Given the description of an element on the screen output the (x, y) to click on. 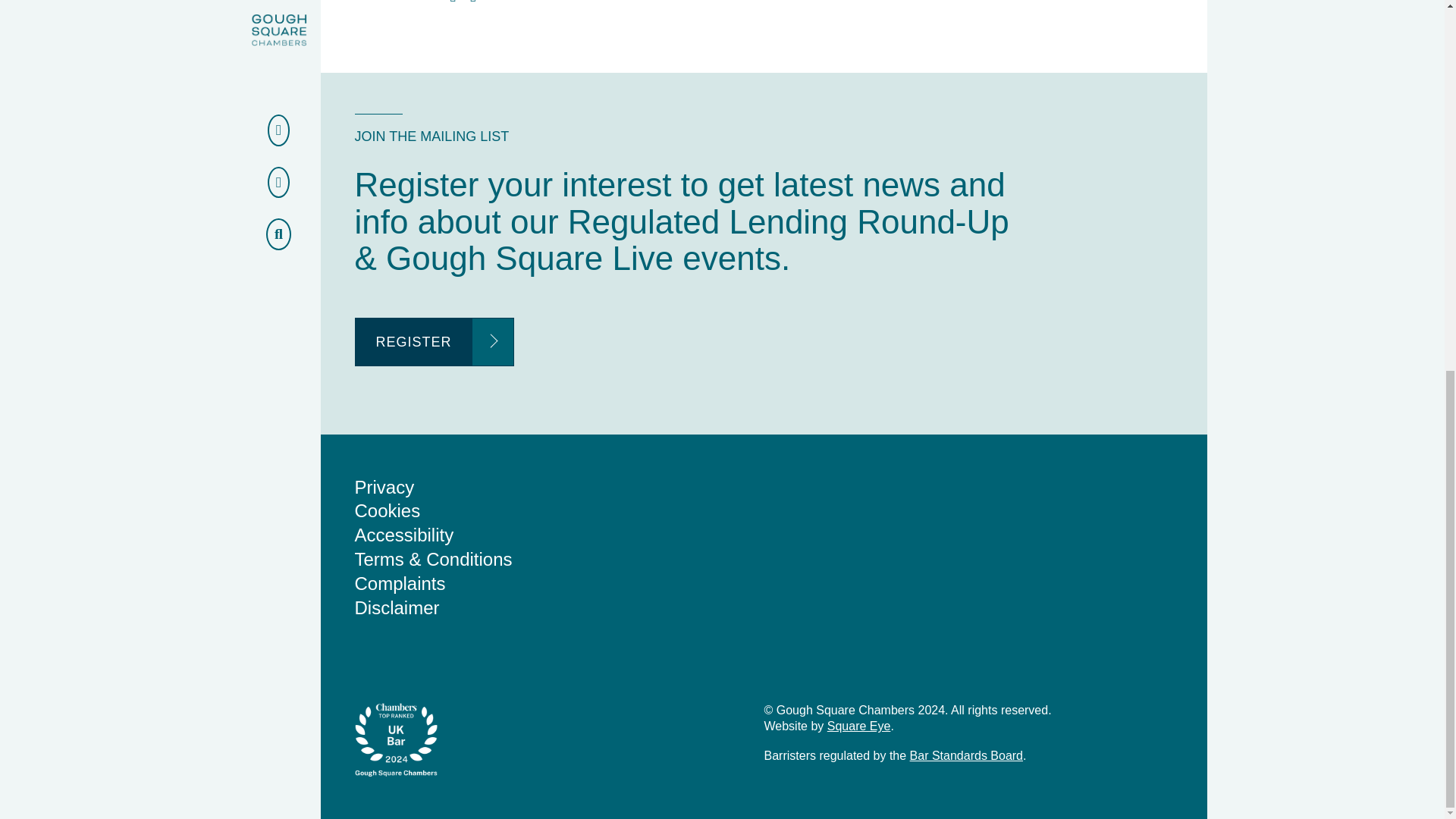
Tweet this (453, 2)
Share on LinkedIn (473, 2)
Square Eye (859, 725)
